Given the description of an element on the screen output the (x, y) to click on. 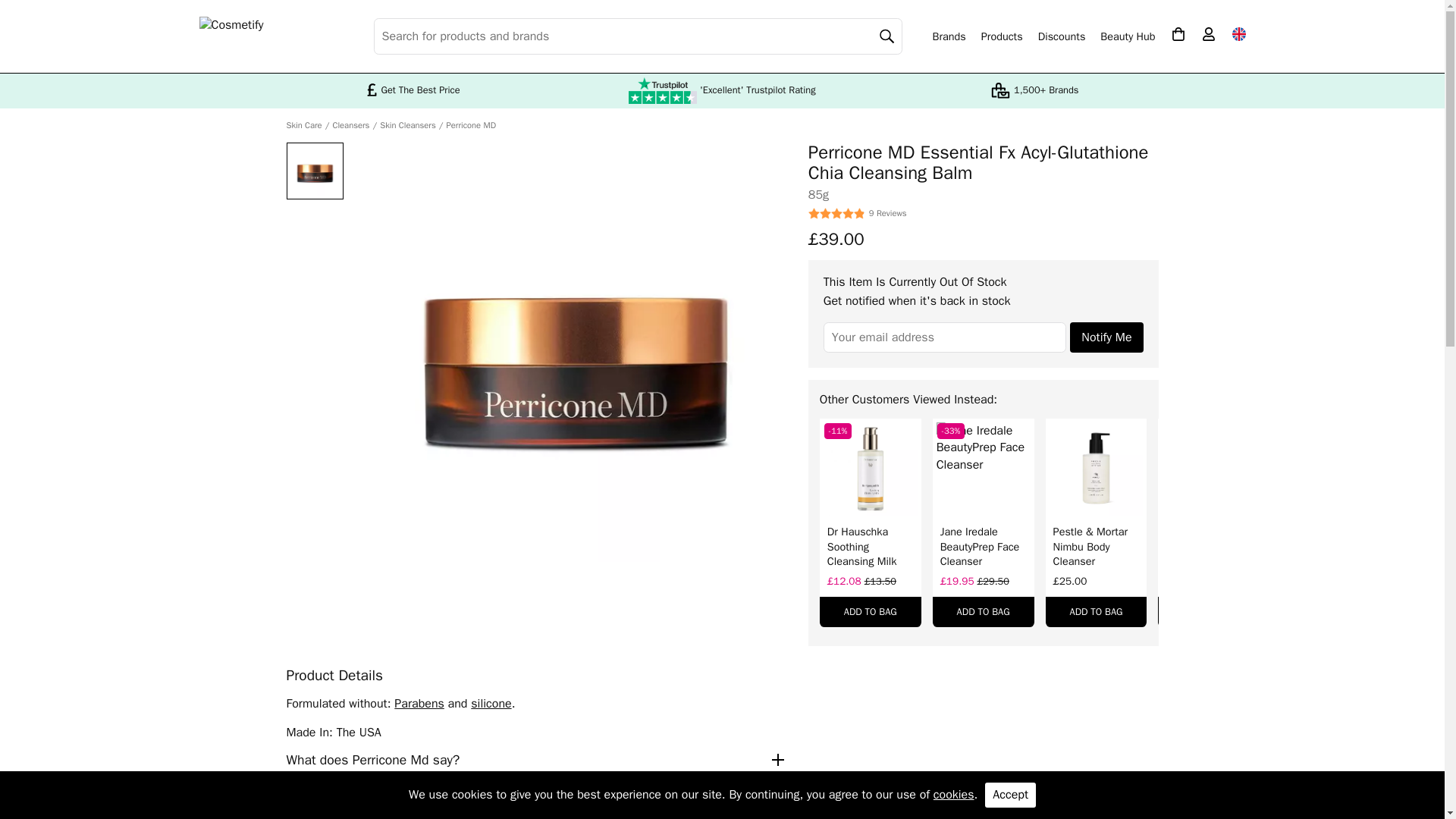
Discounts (1062, 36)
Brands (949, 36)
cookies (953, 794)
Products (1002, 36)
Accept (1010, 794)
Beauty Hub (1127, 36)
